Given the description of an element on the screen output the (x, y) to click on. 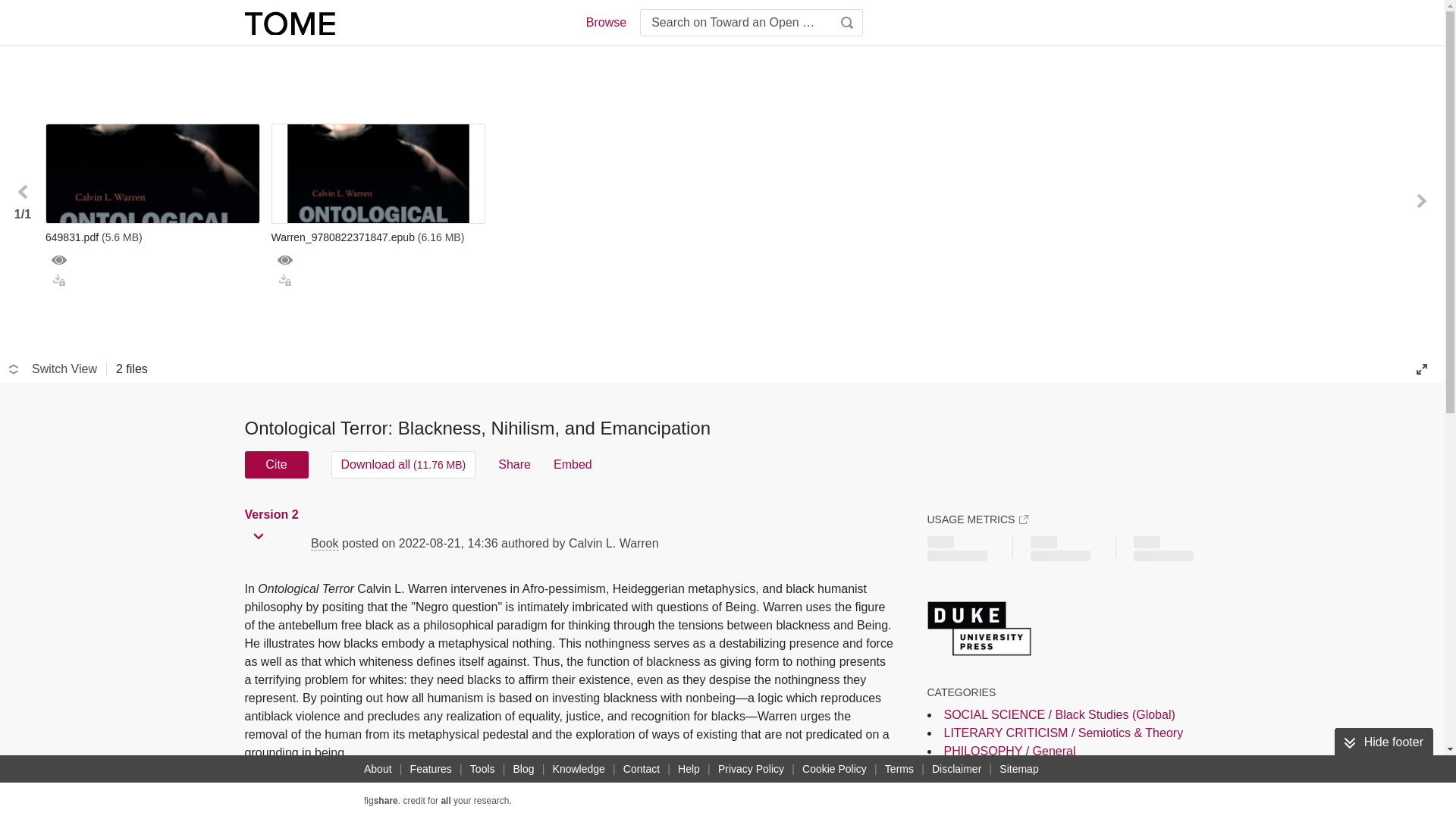
Version 2 (273, 514)
Switch View (52, 369)
Browse (605, 22)
Embed (572, 464)
Cite (275, 464)
USAGE METRICS (976, 519)
649831.pdf (152, 237)
Share (514, 464)
